Given the description of an element on the screen output the (x, y) to click on. 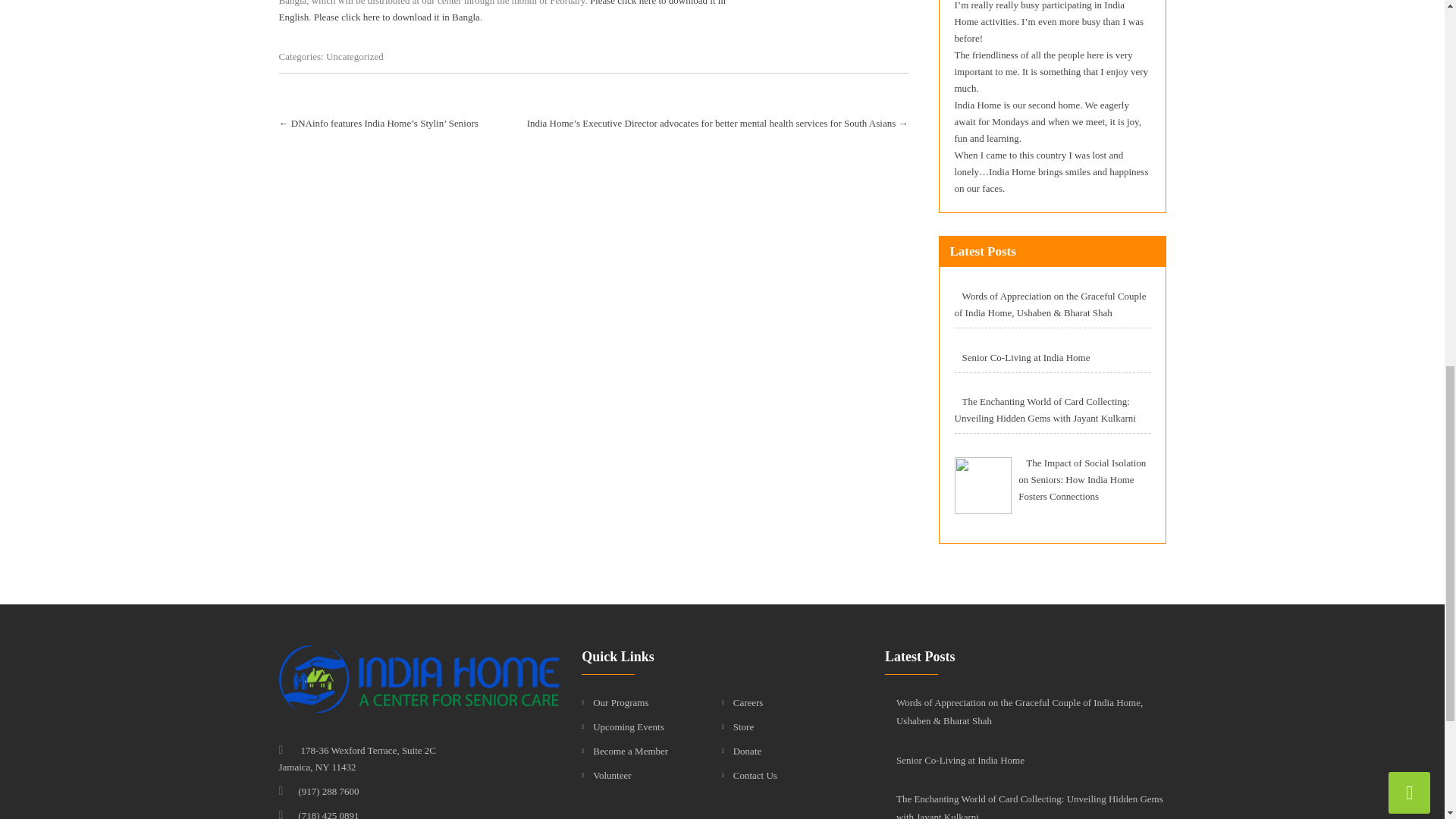
View all posts in Uncategorized (355, 56)
